Given the description of an element on the screen output the (x, y) to click on. 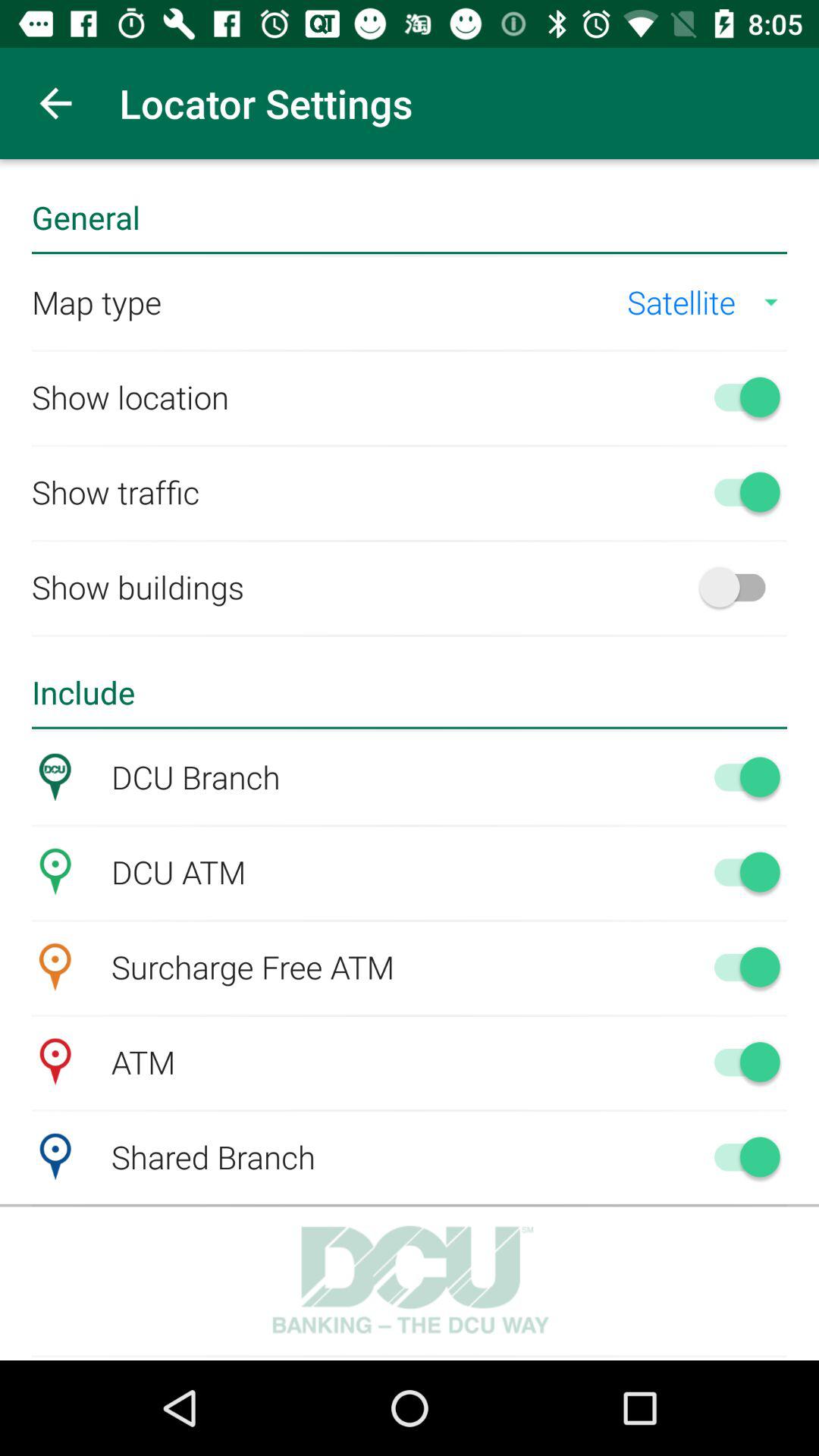
launch the item to the left of the locator settings item (55, 103)
